Given the description of an element on the screen output the (x, y) to click on. 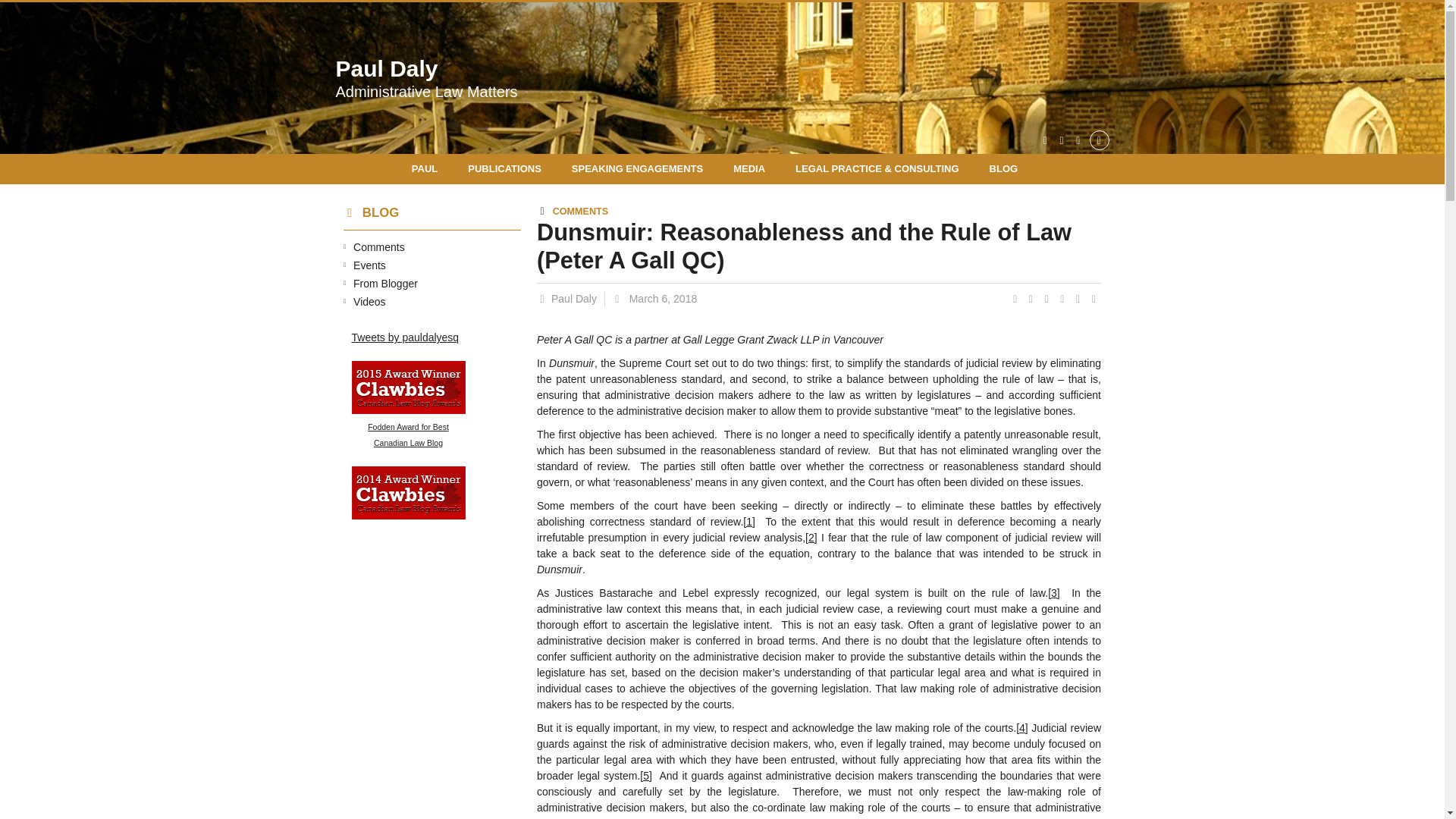
Par (571, 299)
Share on Google Plus (1063, 298)
RSS Feed (1062, 140)
BLOG (1003, 168)
Save via Evernote (1079, 298)
PAUL (432, 168)
Date (654, 299)
Tweets by pauldalyesq (406, 337)
MEDIA (748, 168)
Comments (379, 246)
